Given the description of an element on the screen output the (x, y) to click on. 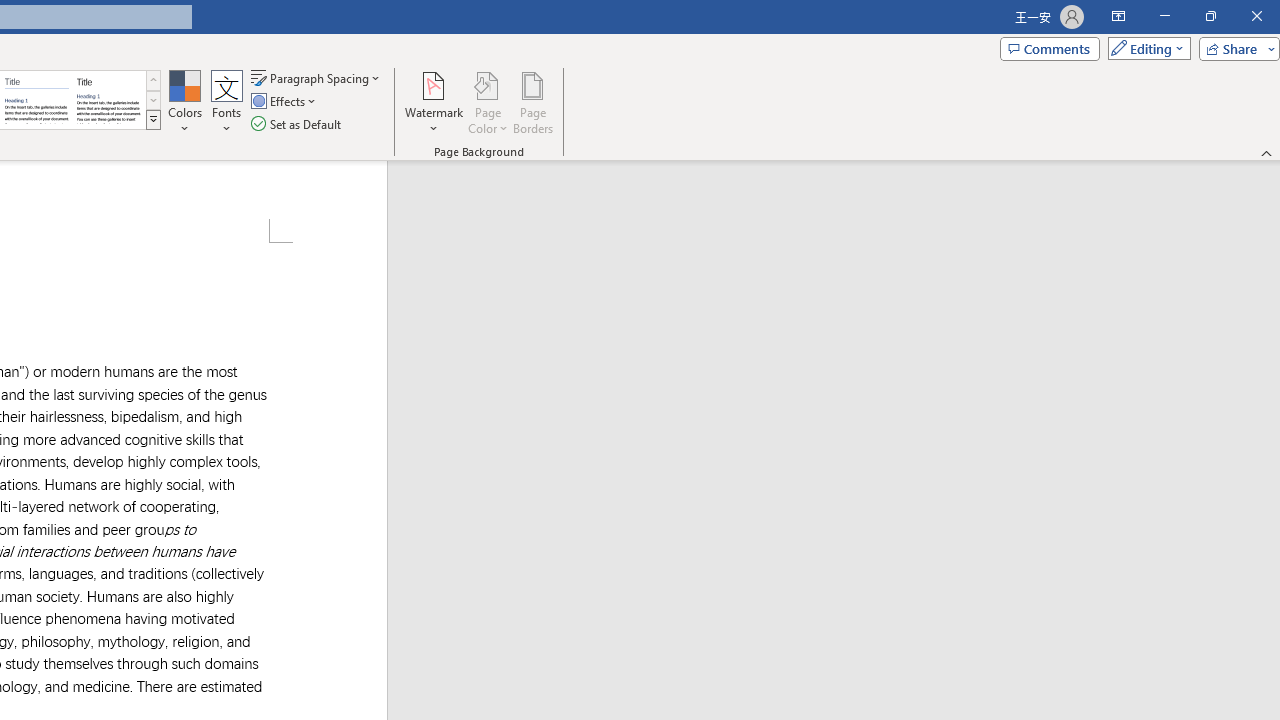
Row Down (153, 100)
Comments (1049, 48)
Set as Default (298, 124)
Watermark (434, 102)
Minimize (1164, 16)
Effects (285, 101)
Close (1256, 16)
Word 2010 (36, 100)
Share (1235, 48)
Paragraph Spacing (317, 78)
Ribbon Display Options (1118, 16)
Page Borders... (532, 102)
Fonts (227, 102)
Page Color (487, 102)
Row up (153, 79)
